Given the description of an element on the screen output the (x, y) to click on. 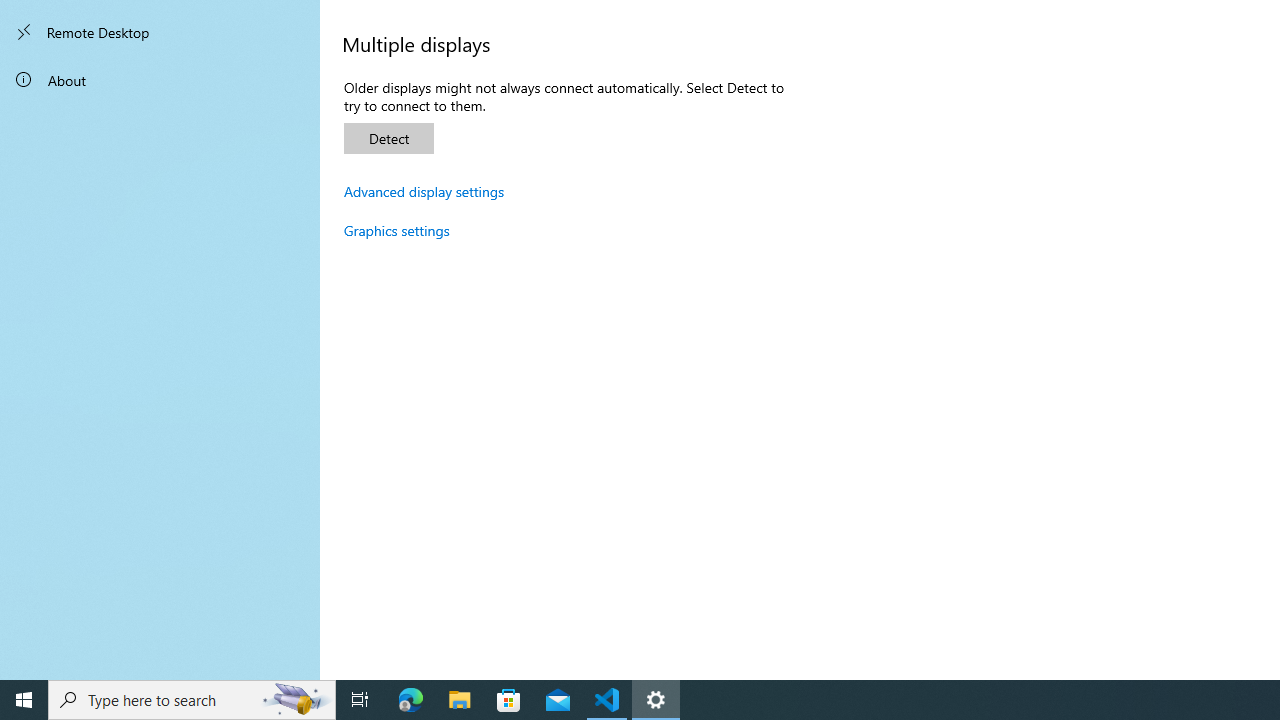
Detect (388, 138)
Remote Desktop (160, 31)
Graphics settings (397, 230)
Settings - 1 running window (656, 699)
Advanced display settings (424, 191)
About (160, 79)
